Given the description of an element on the screen output the (x, y) to click on. 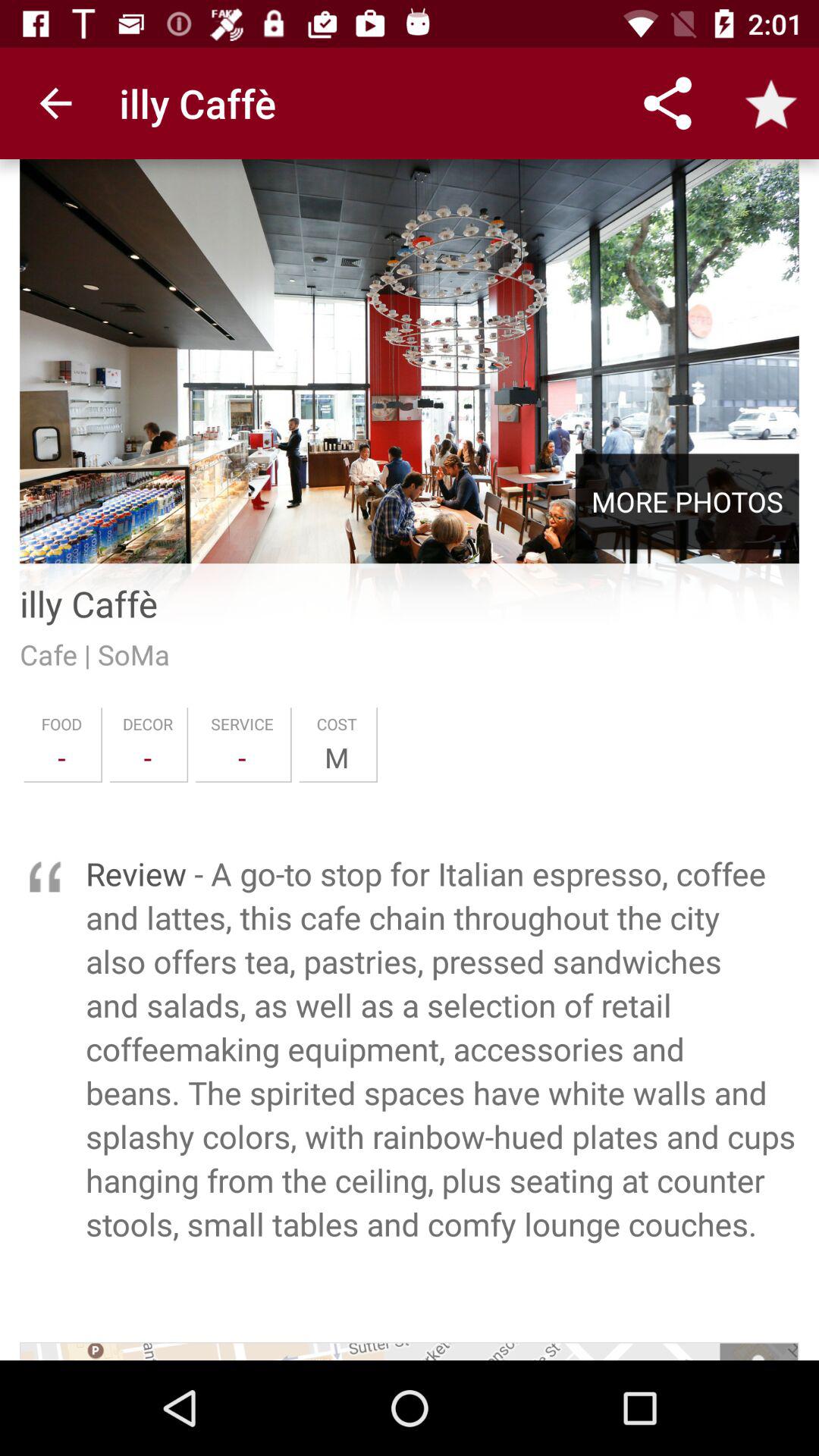
turn on icon at the bottom right corner (758, 1351)
